Given the description of an element on the screen output the (x, y) to click on. 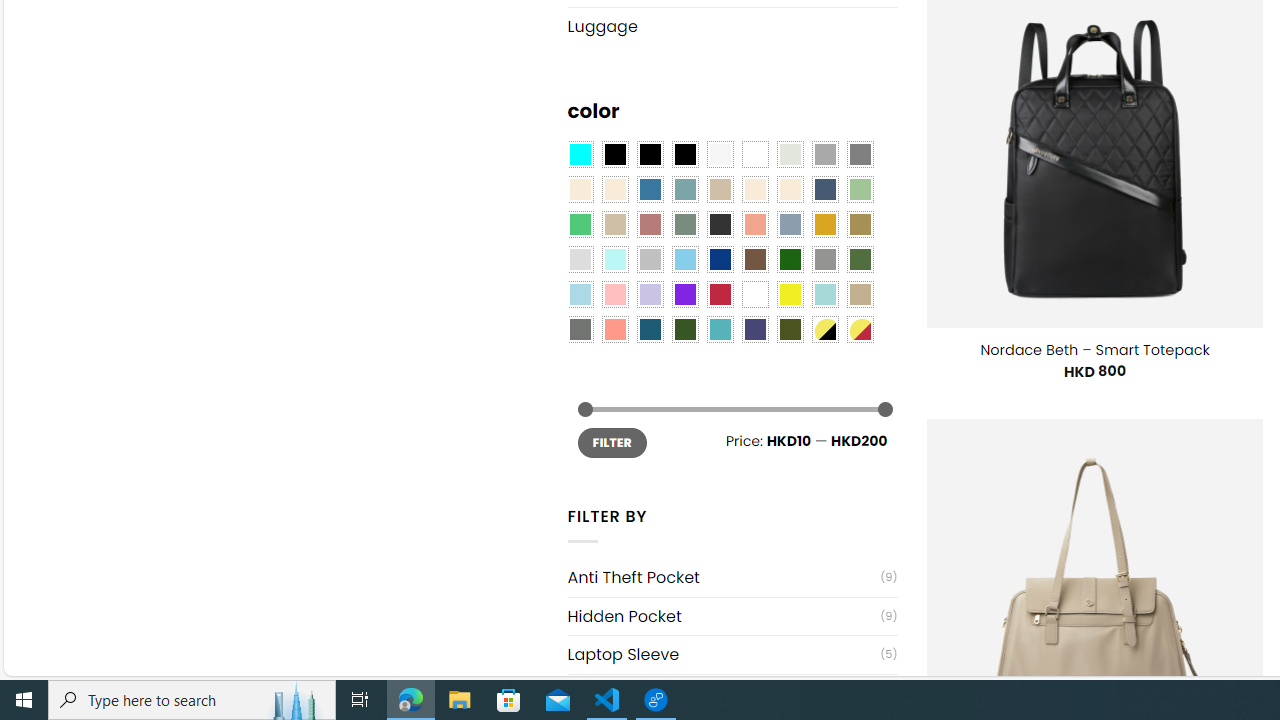
Capri Blue (650, 329)
Brown (755, 259)
Sky Blue (684, 259)
Rose (650, 224)
Yellow-Black (824, 329)
Red (719, 295)
Laptop Sleeve(5) (732, 654)
Aqua Blue (579, 154)
Navy Blue (719, 259)
Anti Theft Pocket (723, 577)
Pink (614, 295)
Light Green (859, 190)
Light Purple (650, 295)
Hidden Pocket(9) (732, 615)
